Given the description of an element on the screen output the (x, y) to click on. 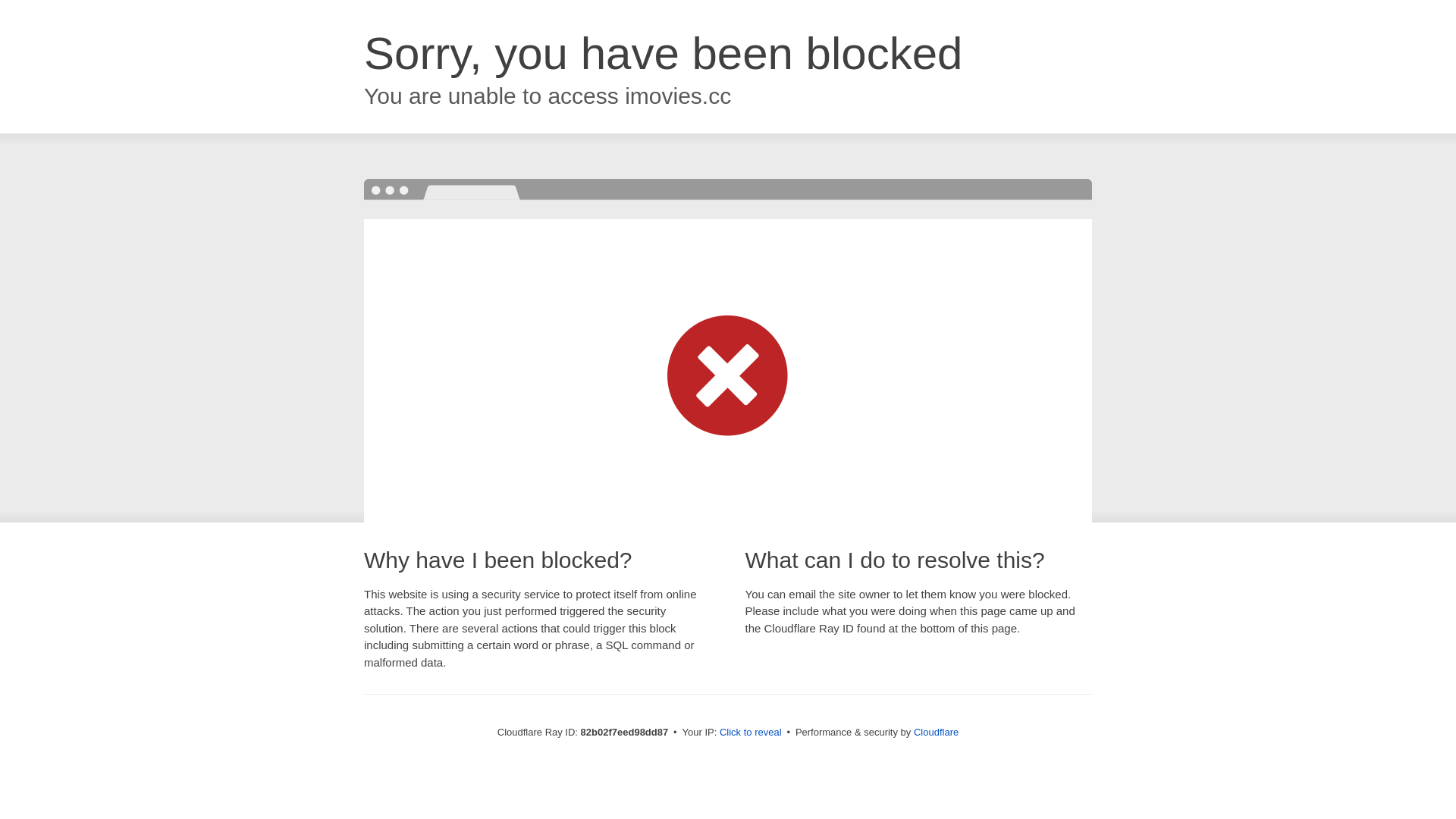
Click to reveal Element type: text (750, 732)
Cloudflare Element type: text (935, 731)
